Given the description of an element on the screen output the (x, y) to click on. 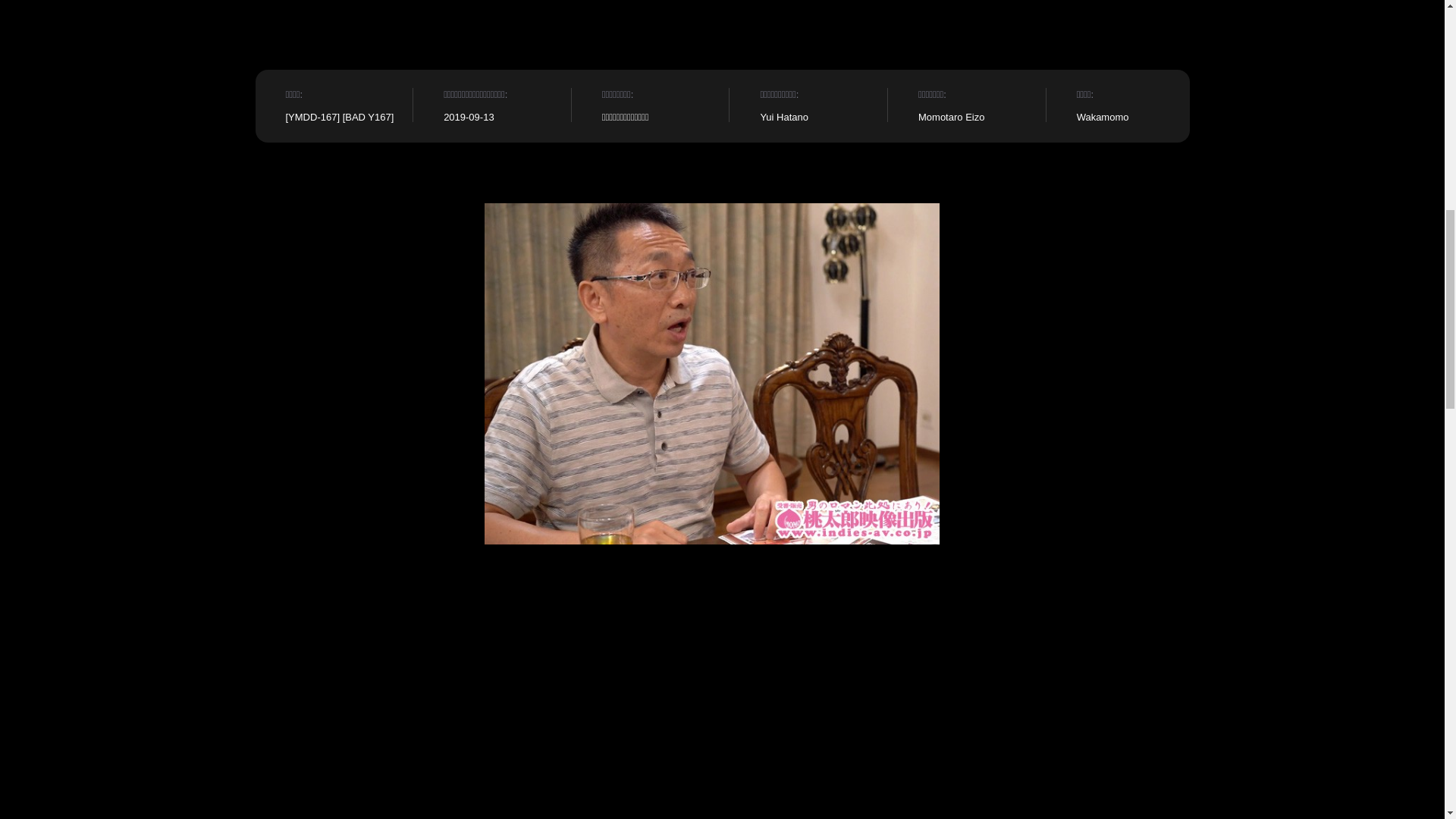
Yui Hatano (784, 116)
